Given the description of an element on the screen output the (x, y) to click on. 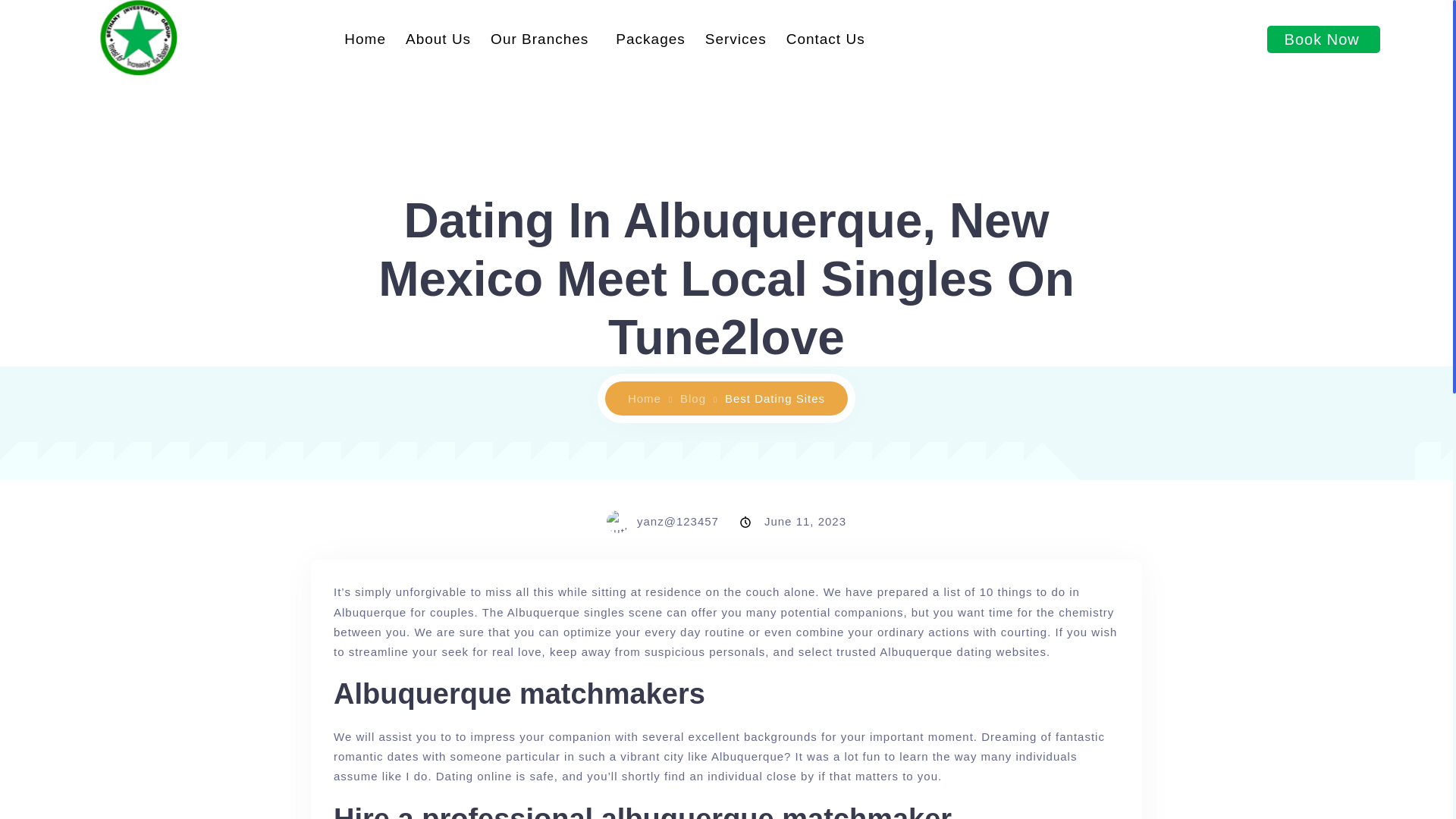
Best Dating Sites (775, 398)
Contact Us (825, 39)
Book Now (1323, 39)
Packages (649, 39)
About Us (438, 39)
Home (365, 39)
Bethany (649, 398)
Our Branches (542, 39)
Home (649, 398)
Blog (698, 398)
